Given the description of an element on the screen output the (x, y) to click on. 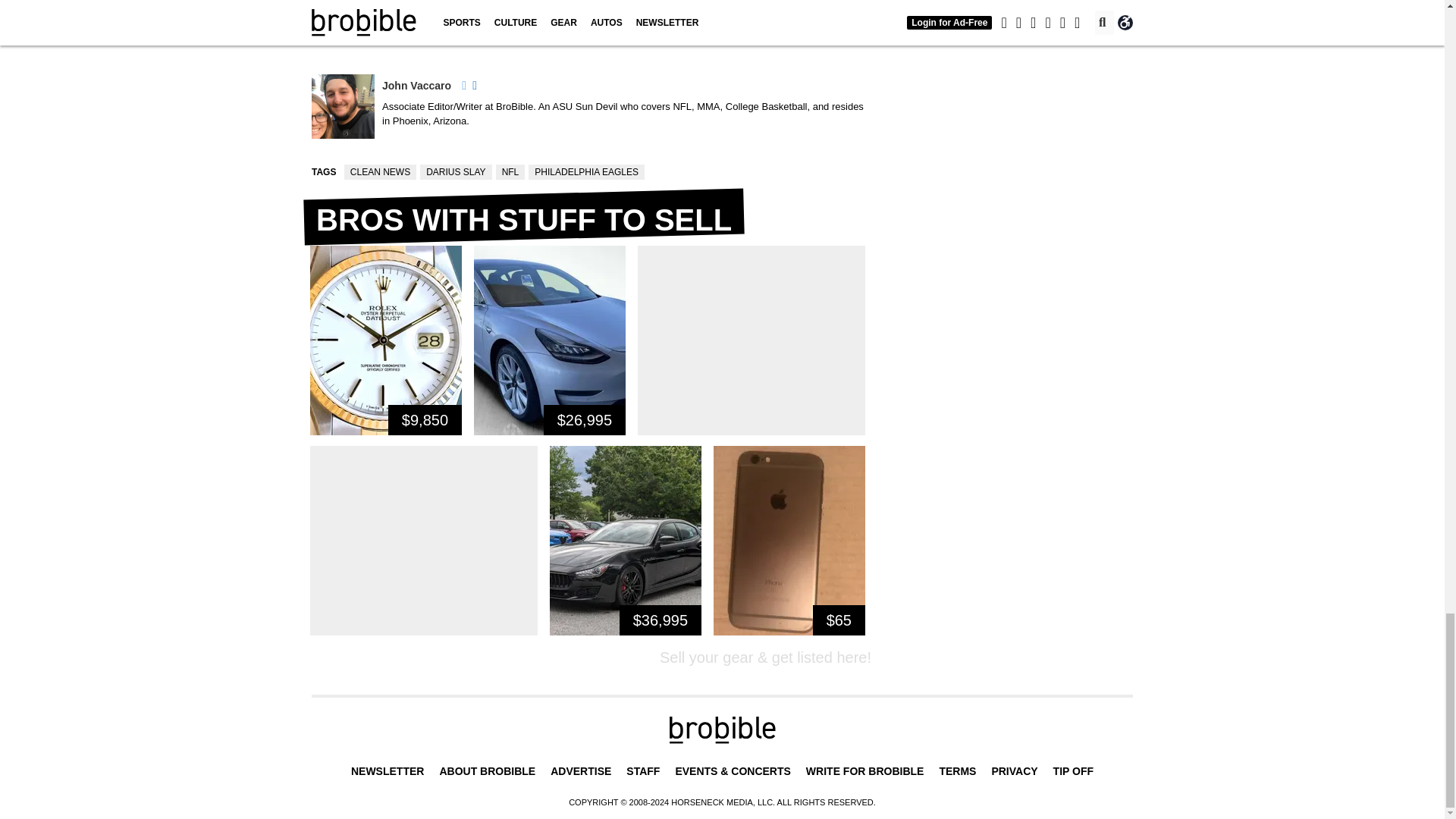
Posts by John Vaccaro (416, 85)
